Given the description of an element on the screen output the (x, y) to click on. 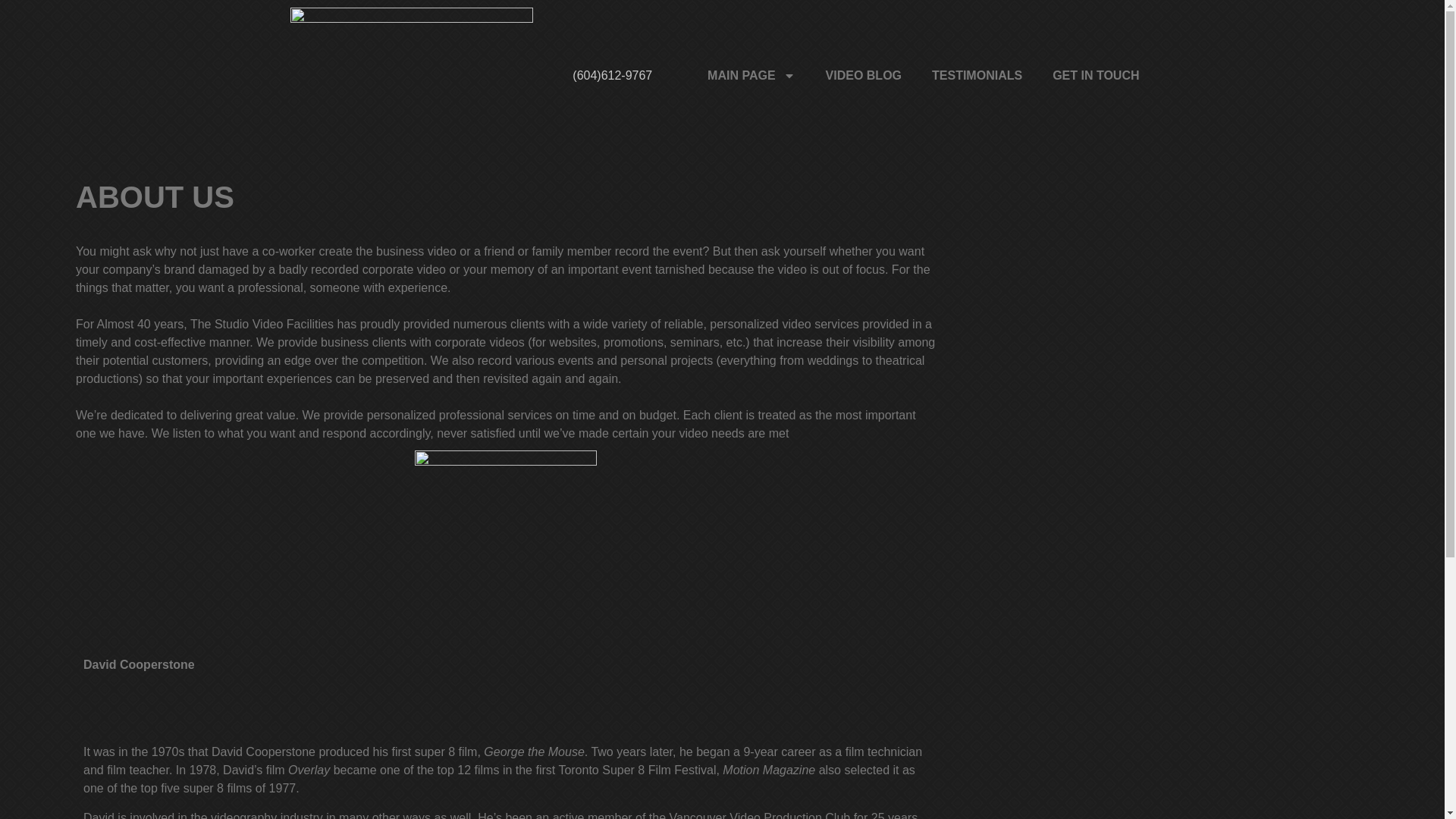
VIDEO BLOG (863, 75)
TESTIMONIALS (976, 75)
MAIN PAGE (751, 75)
GET IN TOUCH (1095, 75)
